Given the description of an element on the screen output the (x, y) to click on. 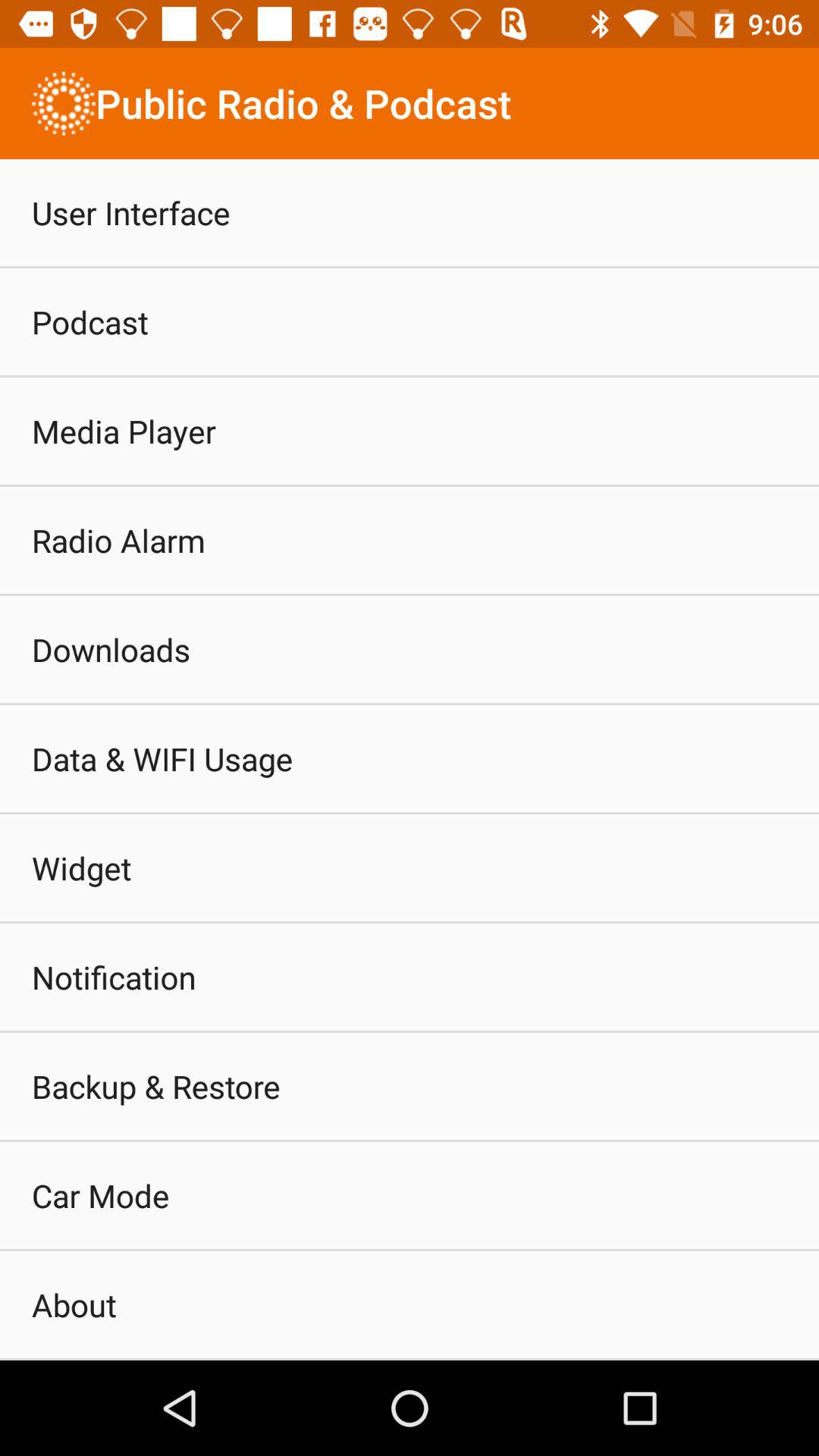
turn on the icon above data & wifi usage app (110, 649)
